Given the description of an element on the screen output the (x, y) to click on. 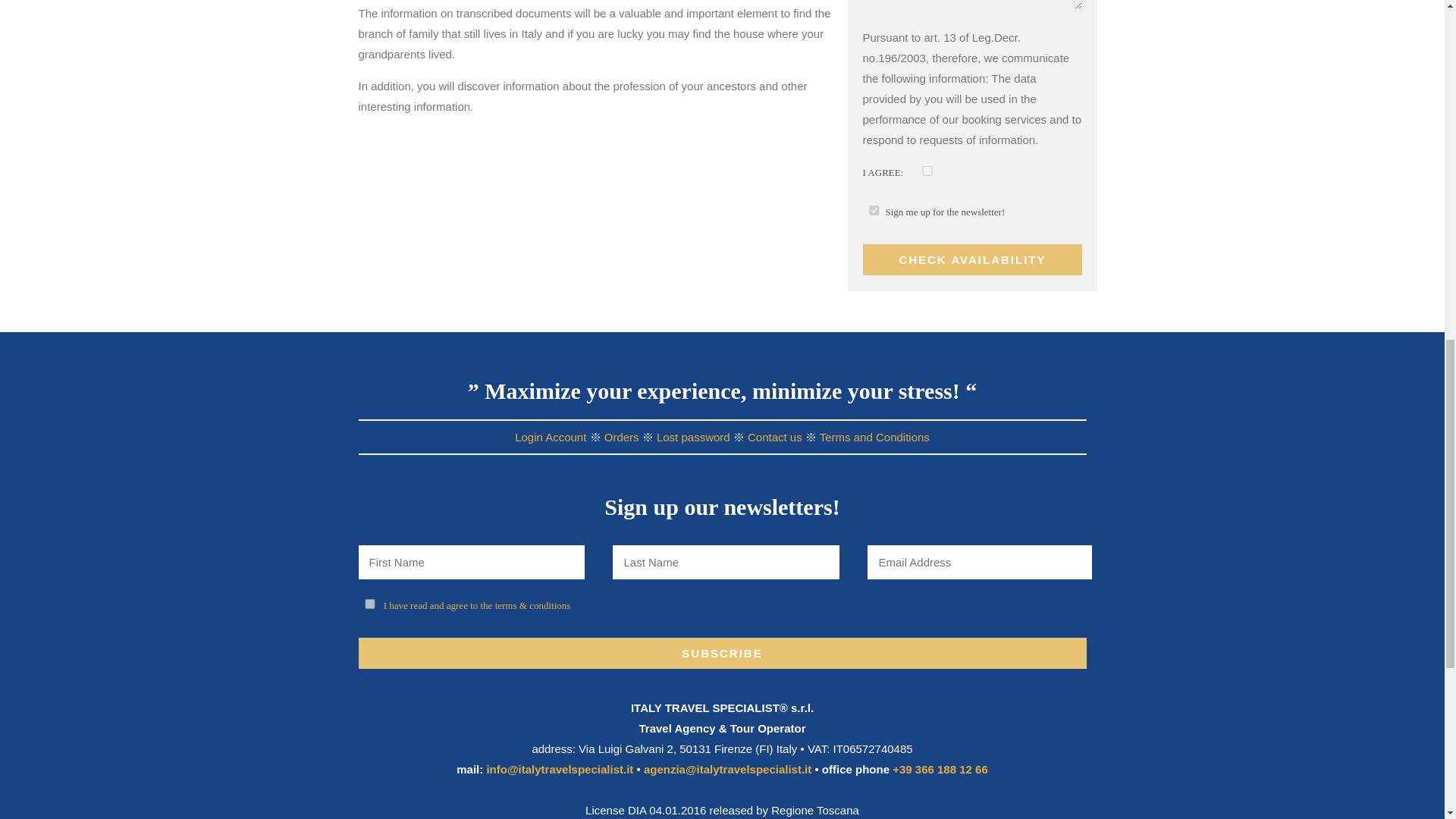
1 (369, 603)
Subscribe (722, 653)
1 (874, 210)
CHECK AVAILABILITY (973, 259)
1 (927, 171)
